Given the description of an element on the screen output the (x, y) to click on. 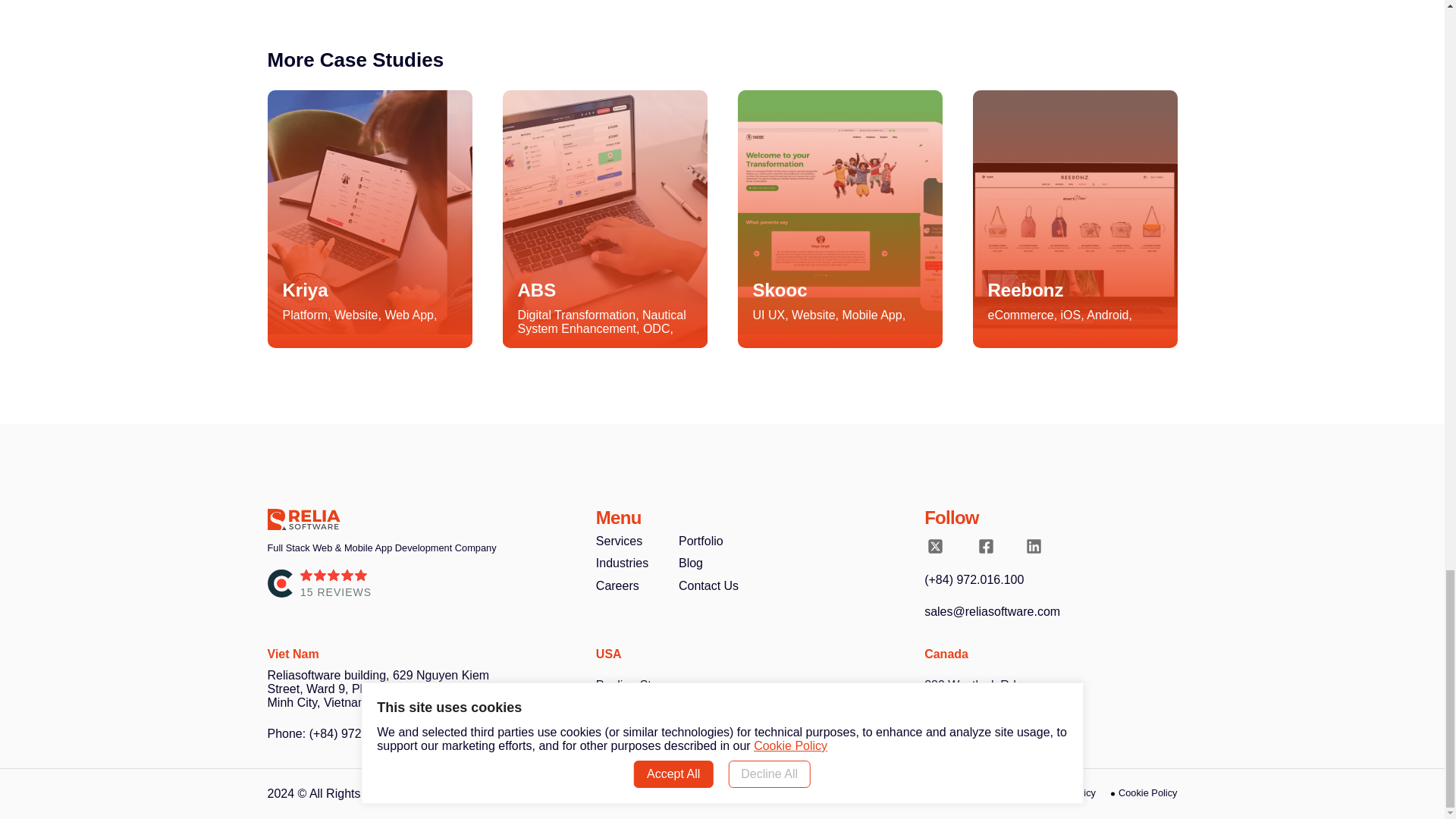
Careers (617, 585)
Contact Us (708, 585)
Privacy Policy (1061, 793)
Blog (690, 562)
Cookie Policy (1143, 793)
Portfolio (700, 540)
Industries (621, 562)
Services (618, 540)
